Given the description of an element on the screen output the (x, y) to click on. 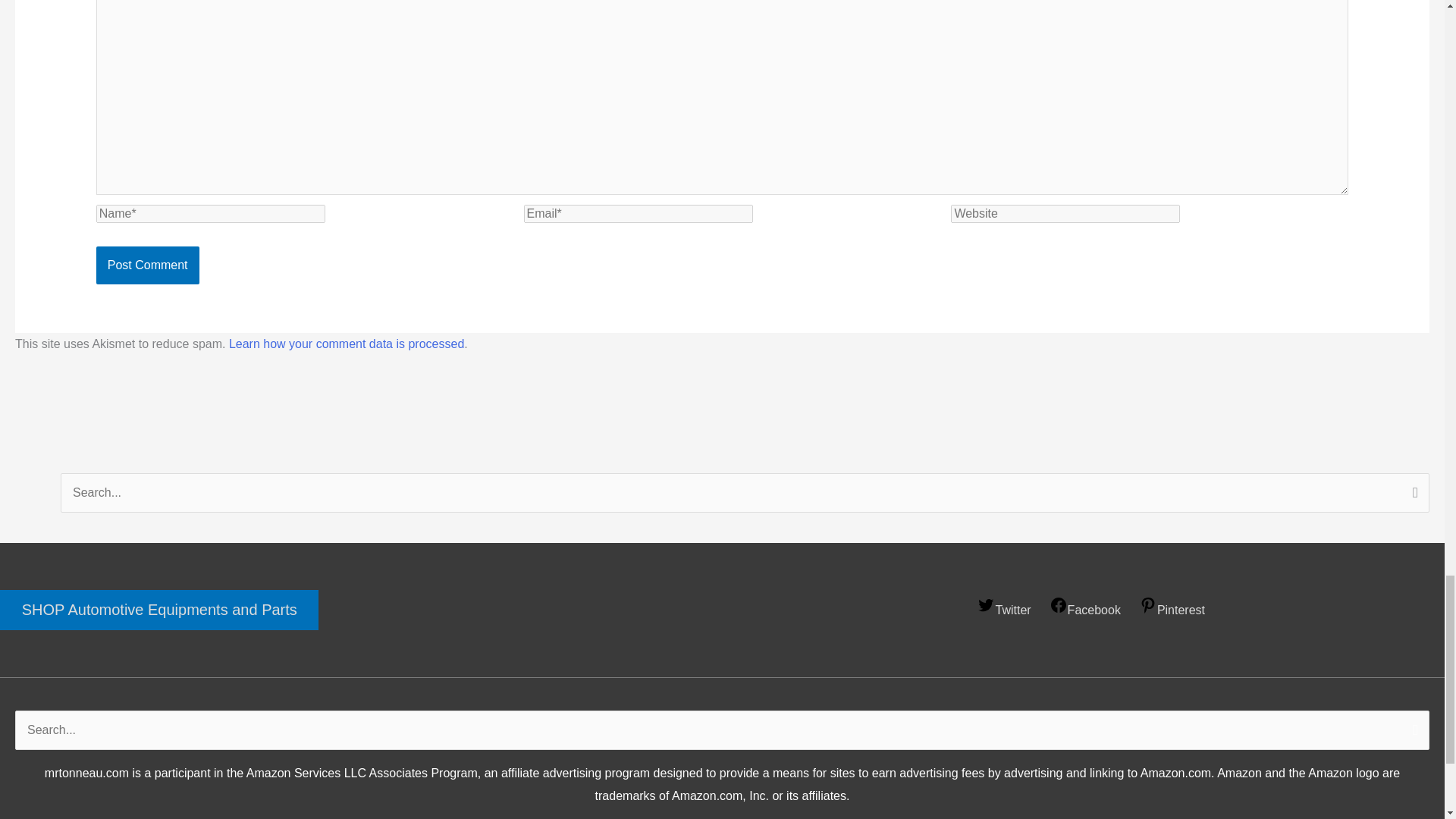
Post Comment (147, 265)
Search (1411, 494)
Search (1411, 731)
Search (1411, 494)
Search (1411, 731)
